Given the description of an element on the screen output the (x, y) to click on. 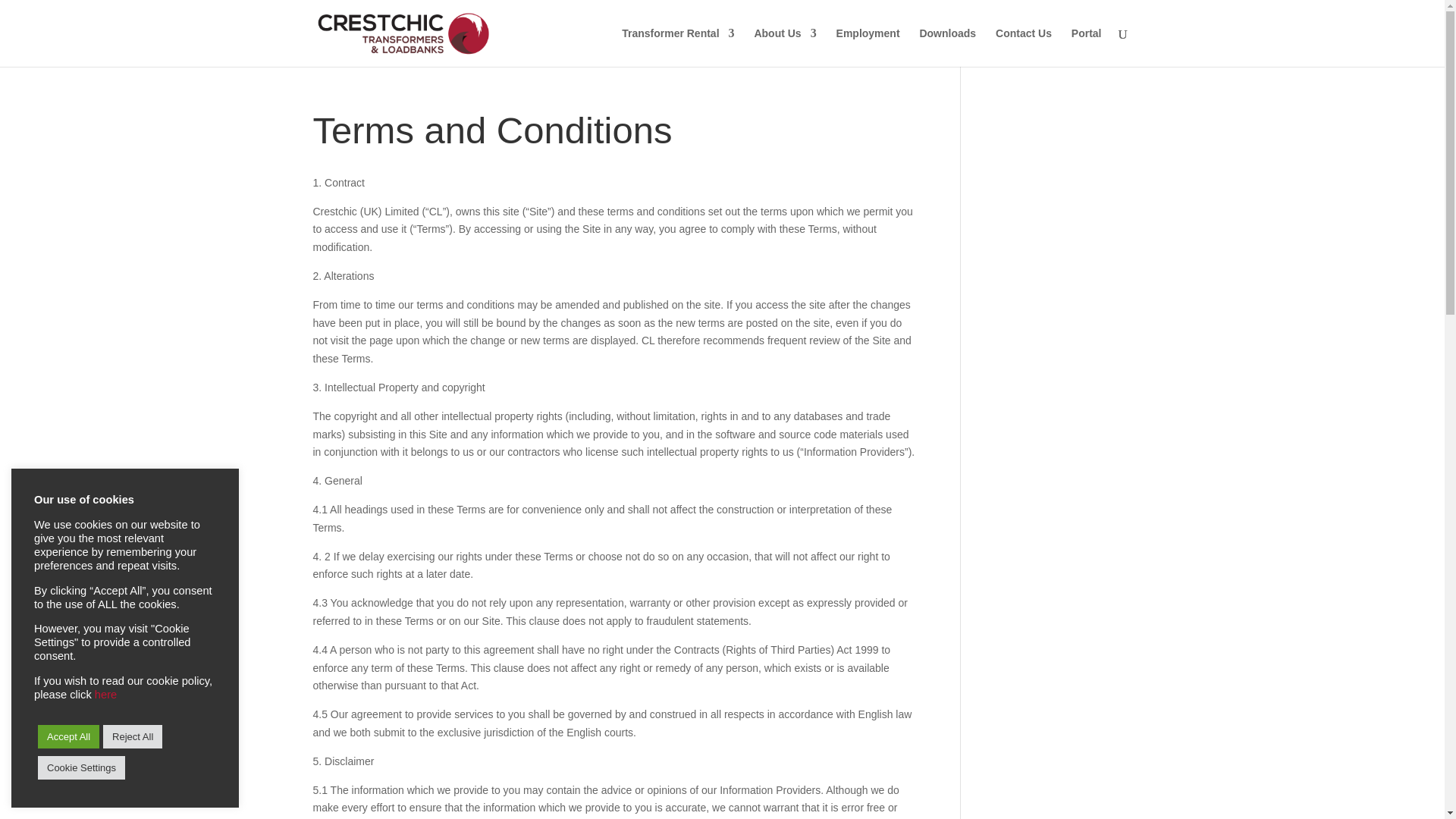
Downloads (946, 46)
here (105, 694)
Cookie Settings (81, 767)
Contact Us (1023, 46)
About Us (784, 46)
Employment (867, 46)
Transformer Rental (677, 46)
Accept All (68, 736)
Reject All (132, 736)
